Given the description of an element on the screen output the (x, y) to click on. 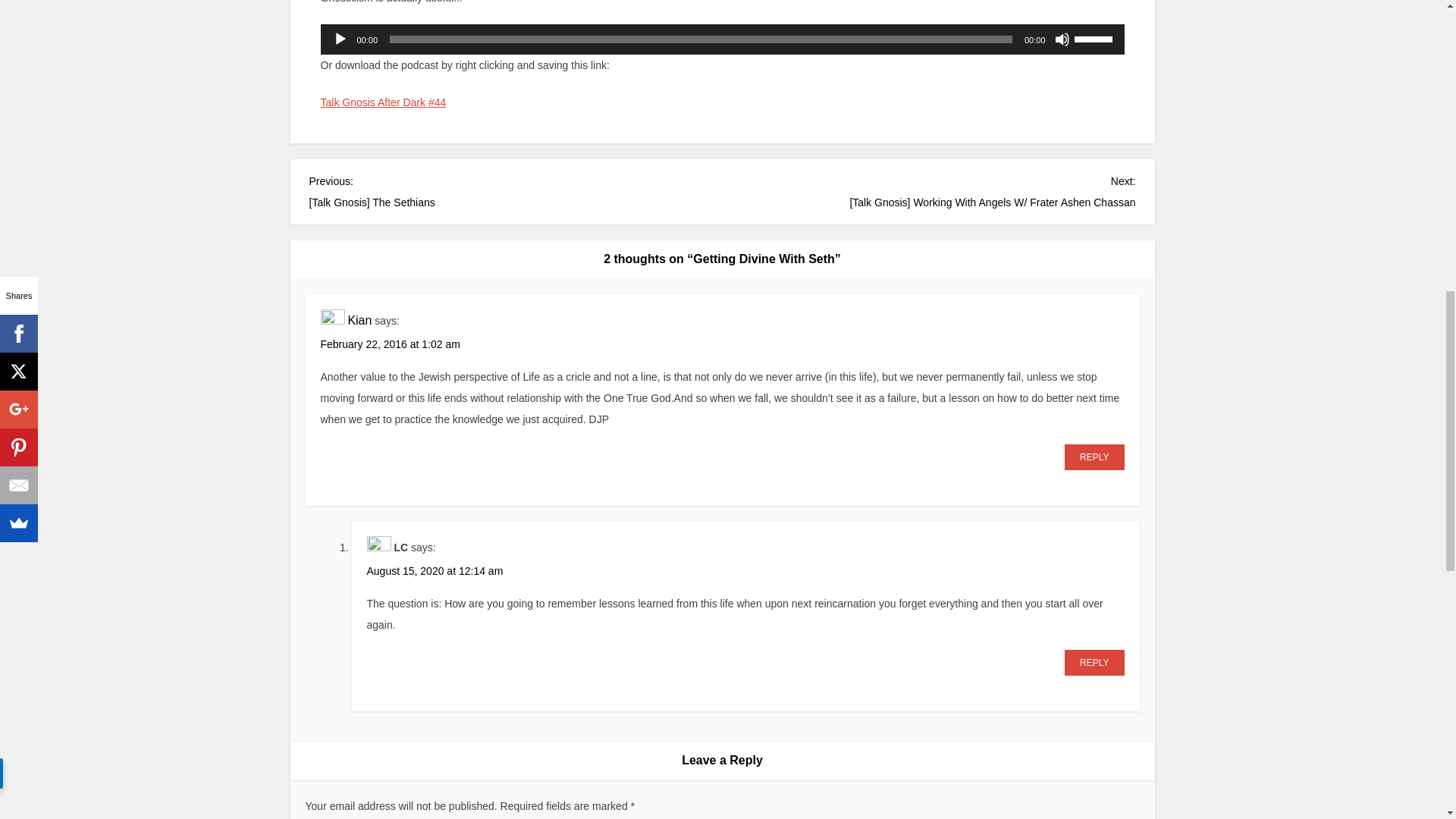
Mute (1061, 38)
Play (339, 38)
August 15, 2020 at 12:14 am (434, 571)
February 22, 2016 at 1:02 am (390, 344)
Kian (359, 319)
REPLY (1094, 662)
REPLY (1094, 457)
